Given the description of an element on the screen output the (x, y) to click on. 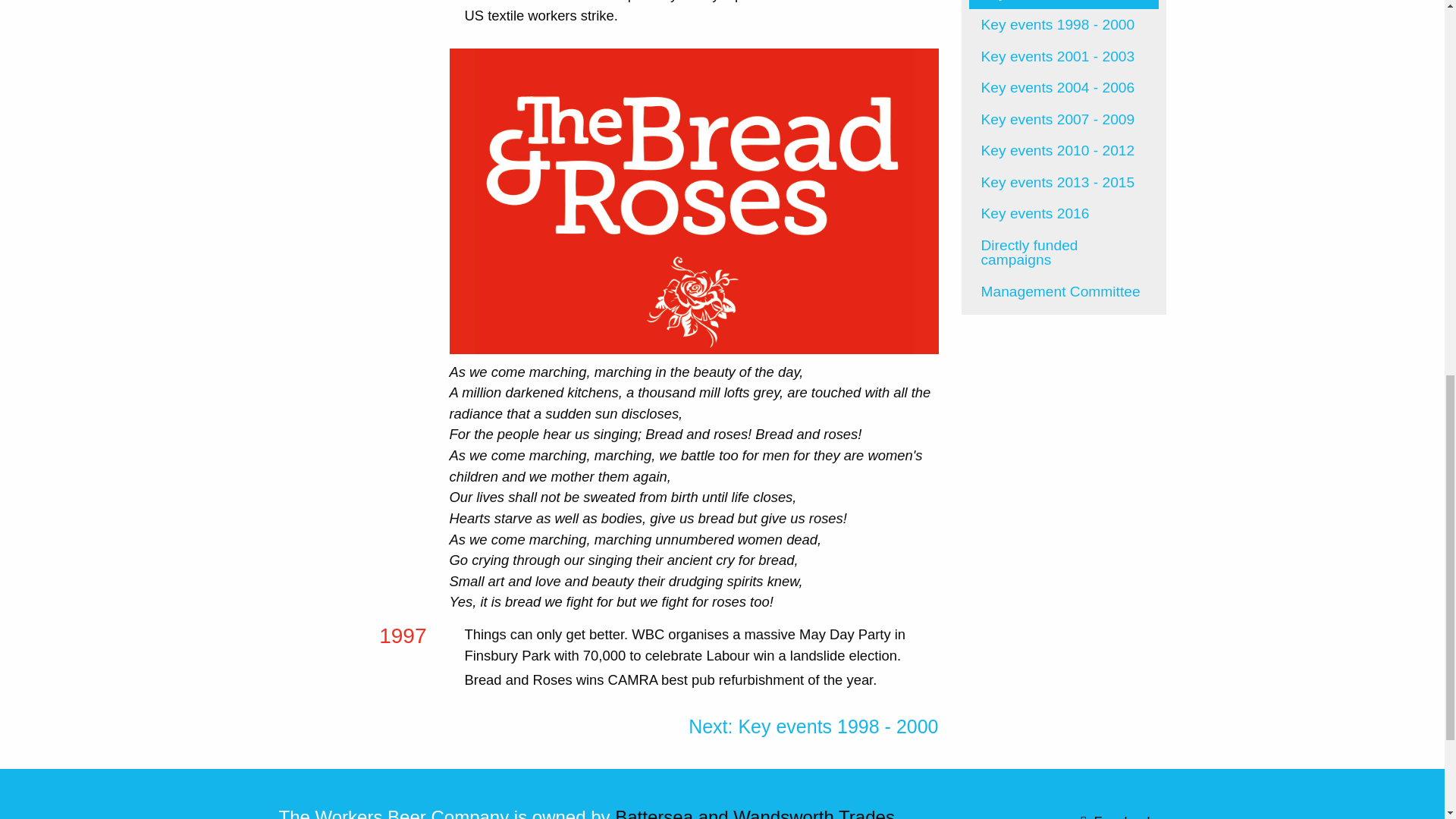
Key events 1998 - 2000 (812, 726)
Next: Key events 1998 - 2000 (812, 726)
Key events 1995 - 1997 (1063, 4)
Key events 2010 - 2012 (1063, 151)
Key events 2016 (1063, 214)
Facebook (1063, 812)
Key events 2007 - 2009 (1063, 119)
Directly funded campaigns (1063, 253)
Battersea and Wandsworth Trades Union Council (587, 812)
Key events 1998 - 2000 (1063, 24)
Key events 2013 - 2015 (1063, 183)
Key events 2001 - 2003 (1063, 56)
Management Committee (1063, 291)
Key events 2004 - 2006 (1063, 88)
